Given the description of an element on the screen output the (x, y) to click on. 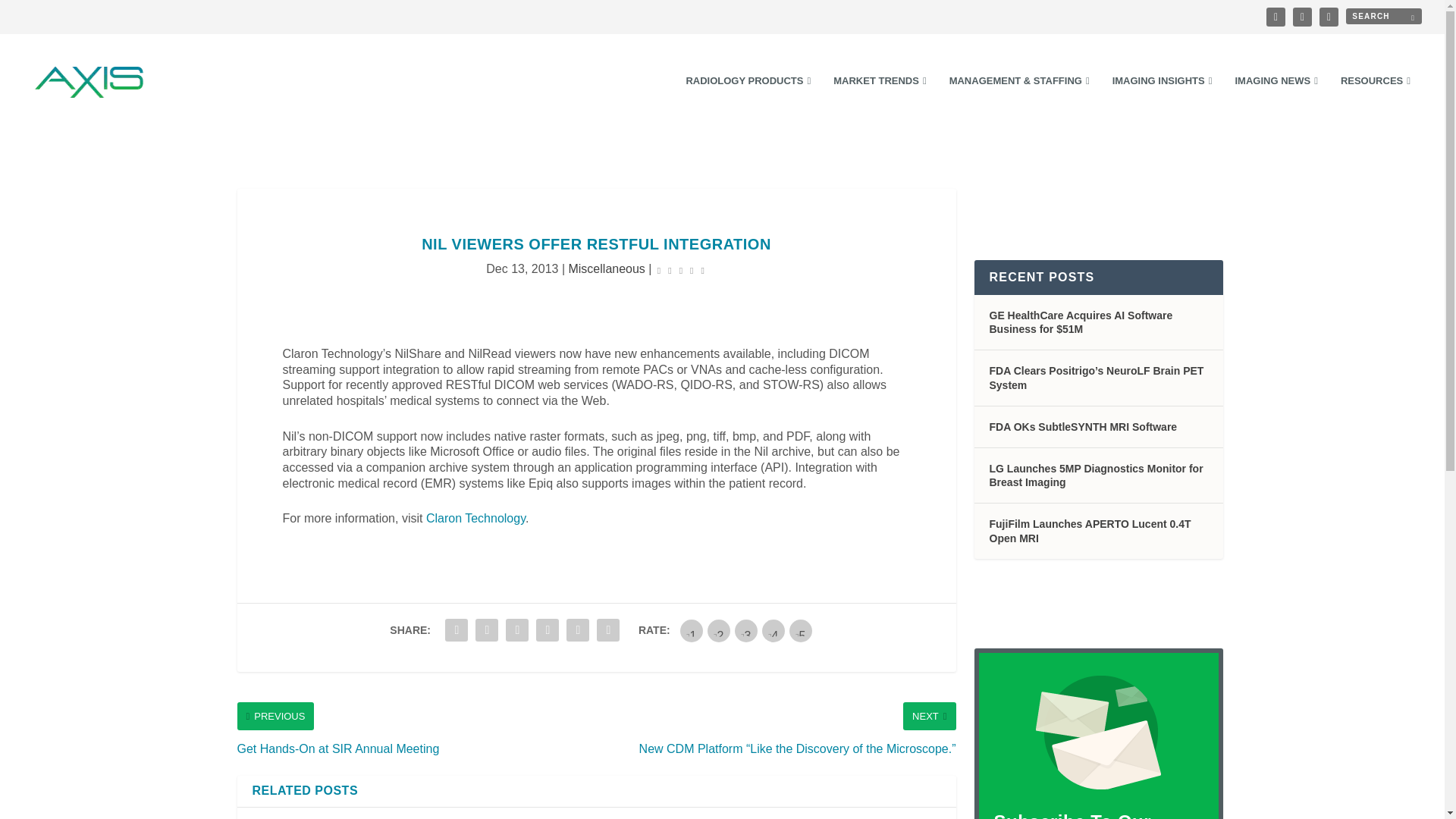
RESOURCES (1375, 101)
Share "Nil Viewers Offer RESTful Integration" via Print (607, 630)
Share "Nil Viewers Offer RESTful Integration" via Email (577, 630)
gorgeous (800, 630)
IMAGING NEWS (1275, 101)
Share "Nil Viewers Offer RESTful Integration" via Buffer (547, 630)
Rating: 0.00 (680, 269)
good (772, 630)
bad (691, 630)
poor (718, 630)
regular (746, 630)
Share "Nil Viewers Offer RESTful Integration" via LinkedIn (517, 630)
RADIOLOGY PRODUCTS (747, 101)
IMAGING INSIGHTS (1162, 101)
Share "Nil Viewers Offer RESTful Integration" via Twitter (486, 630)
